Given the description of an element on the screen output the (x, y) to click on. 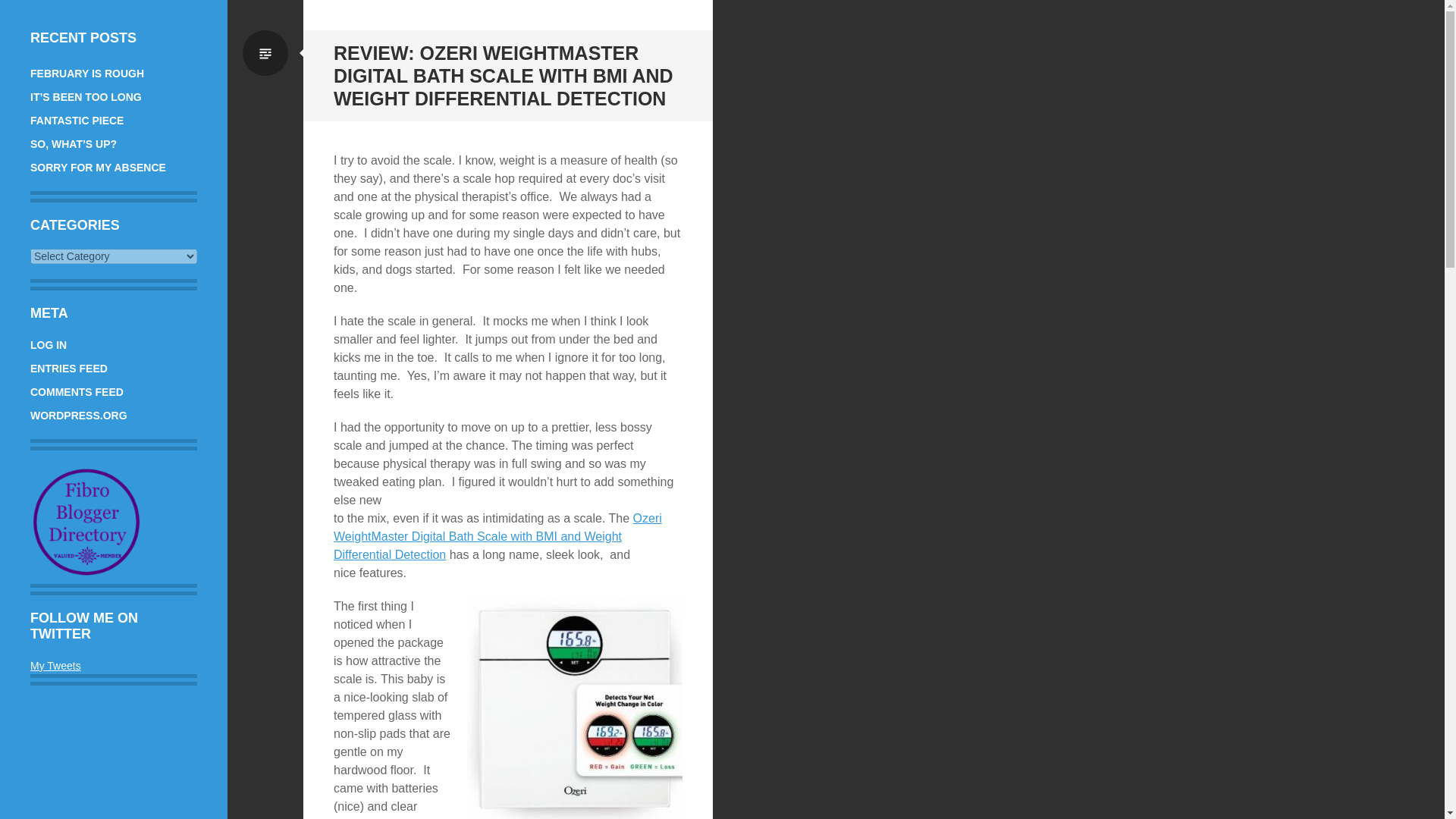
FANTASTIC PIECE (76, 120)
FEBRUARY IS ROUGH (87, 73)
SORRY FOR MY ABSENCE (97, 167)
ENTRIES FEED (68, 368)
COMMENTS FEED (76, 391)
My Tweets (55, 665)
WORDPRESS.ORG (79, 415)
LOG IN (48, 345)
